Given the description of an element on the screen output the (x, y) to click on. 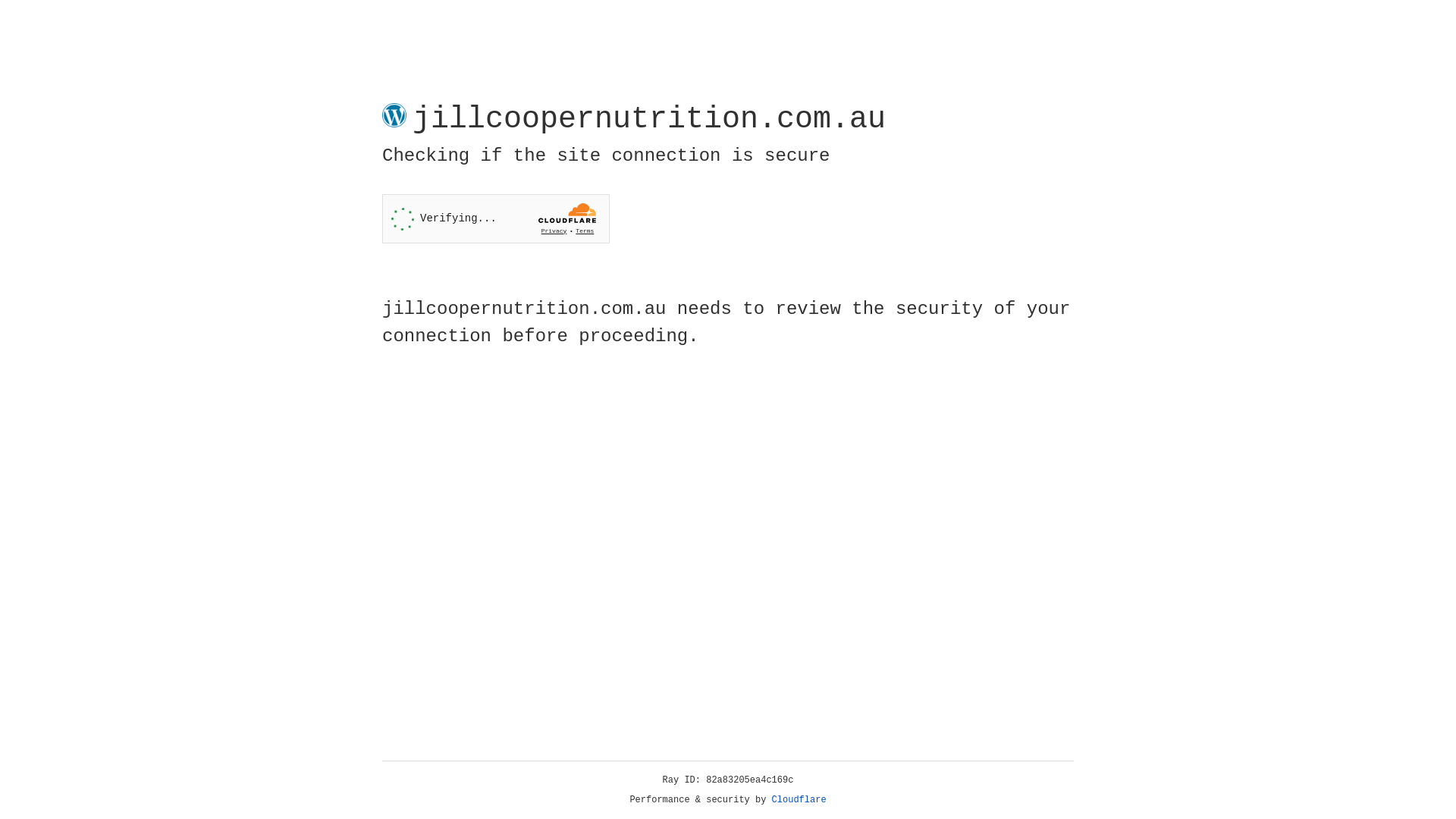
Cloudflare Element type: text (798, 799)
